Given the description of an element on the screen output the (x, y) to click on. 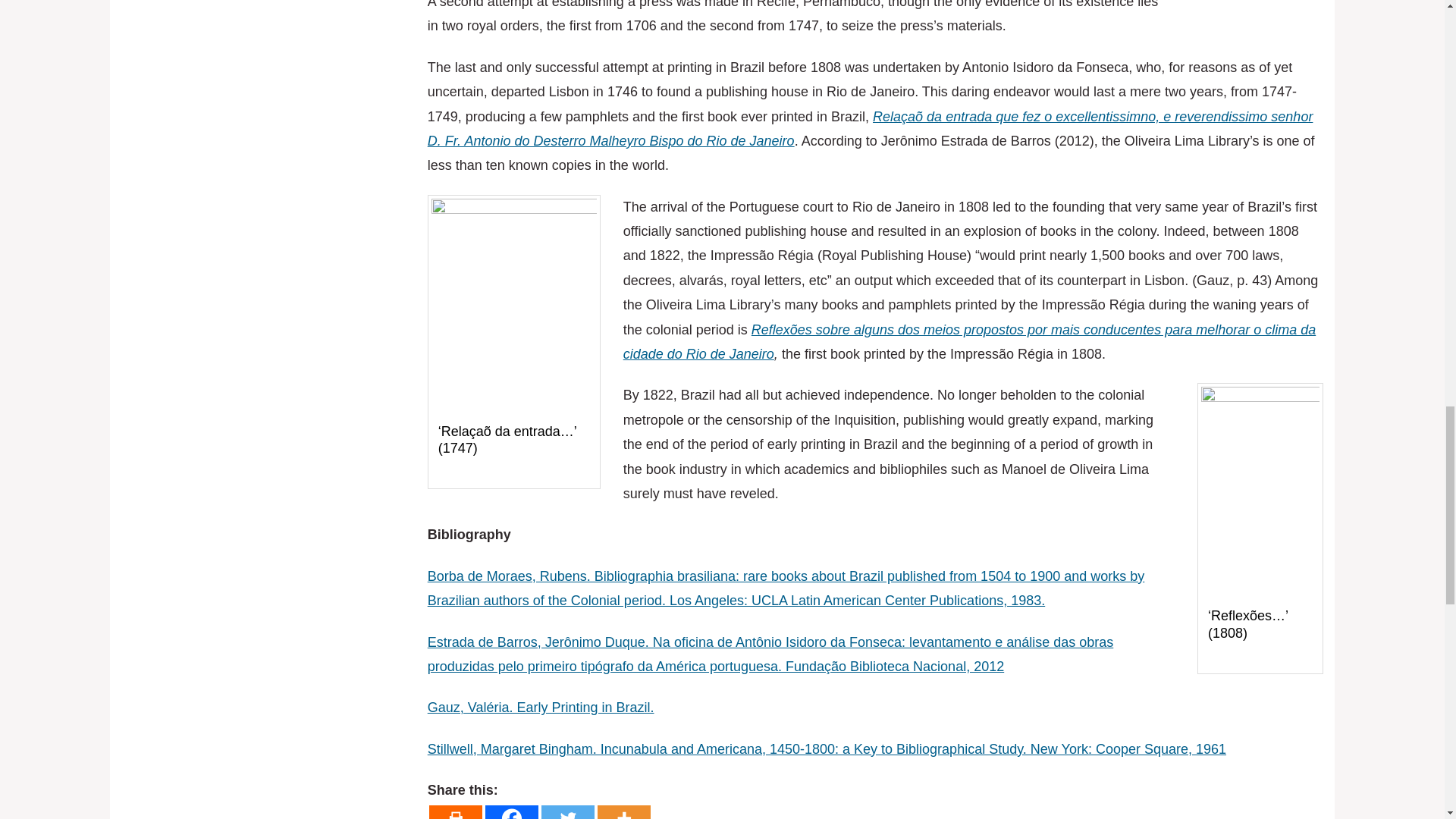
Twitter (567, 812)
Facebook (511, 812)
More (623, 812)
Print (455, 812)
